Given the description of an element on the screen output the (x, y) to click on. 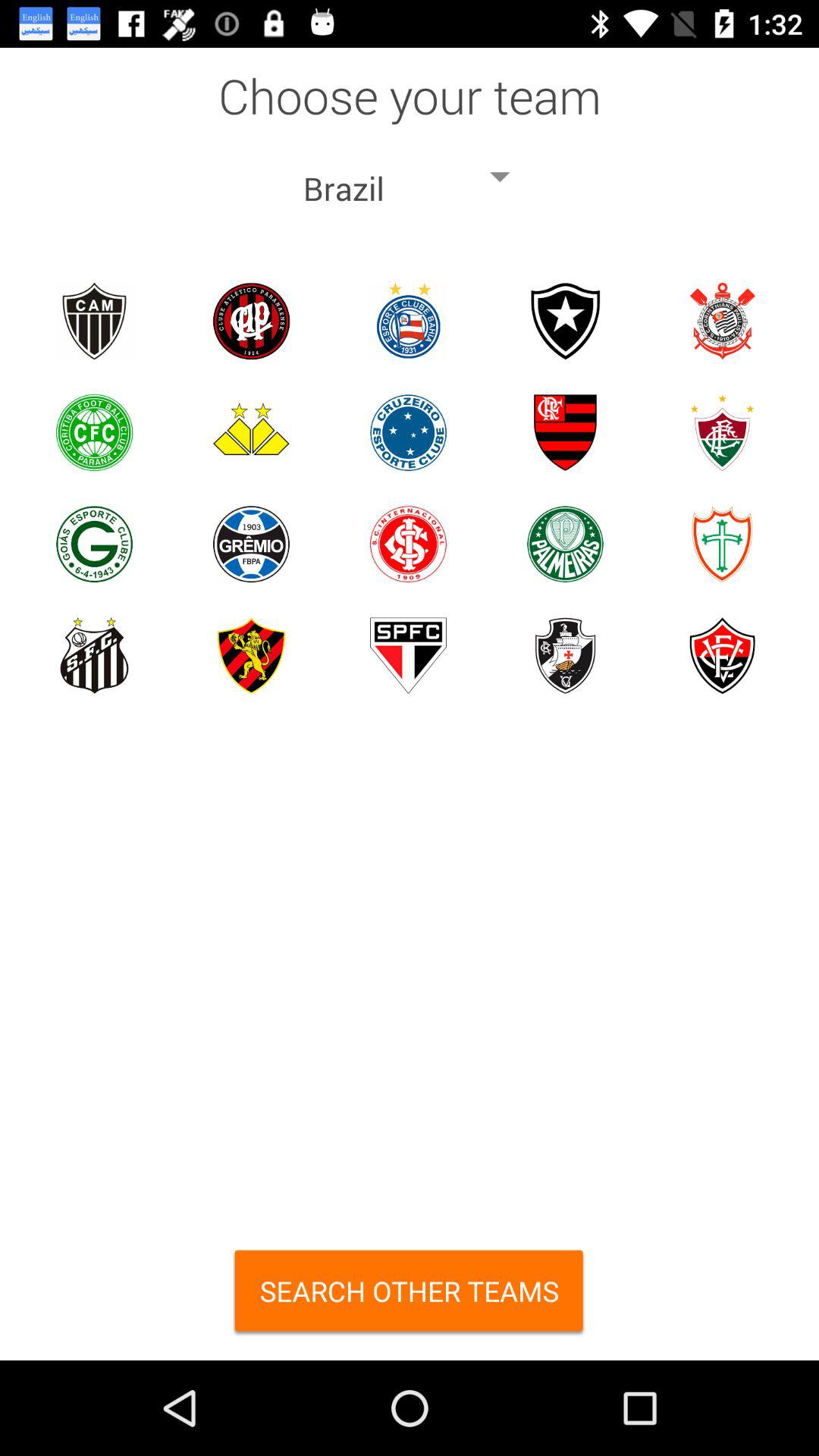
choose club atletico mineiro (94, 321)
